Given the description of an element on the screen output the (x, y) to click on. 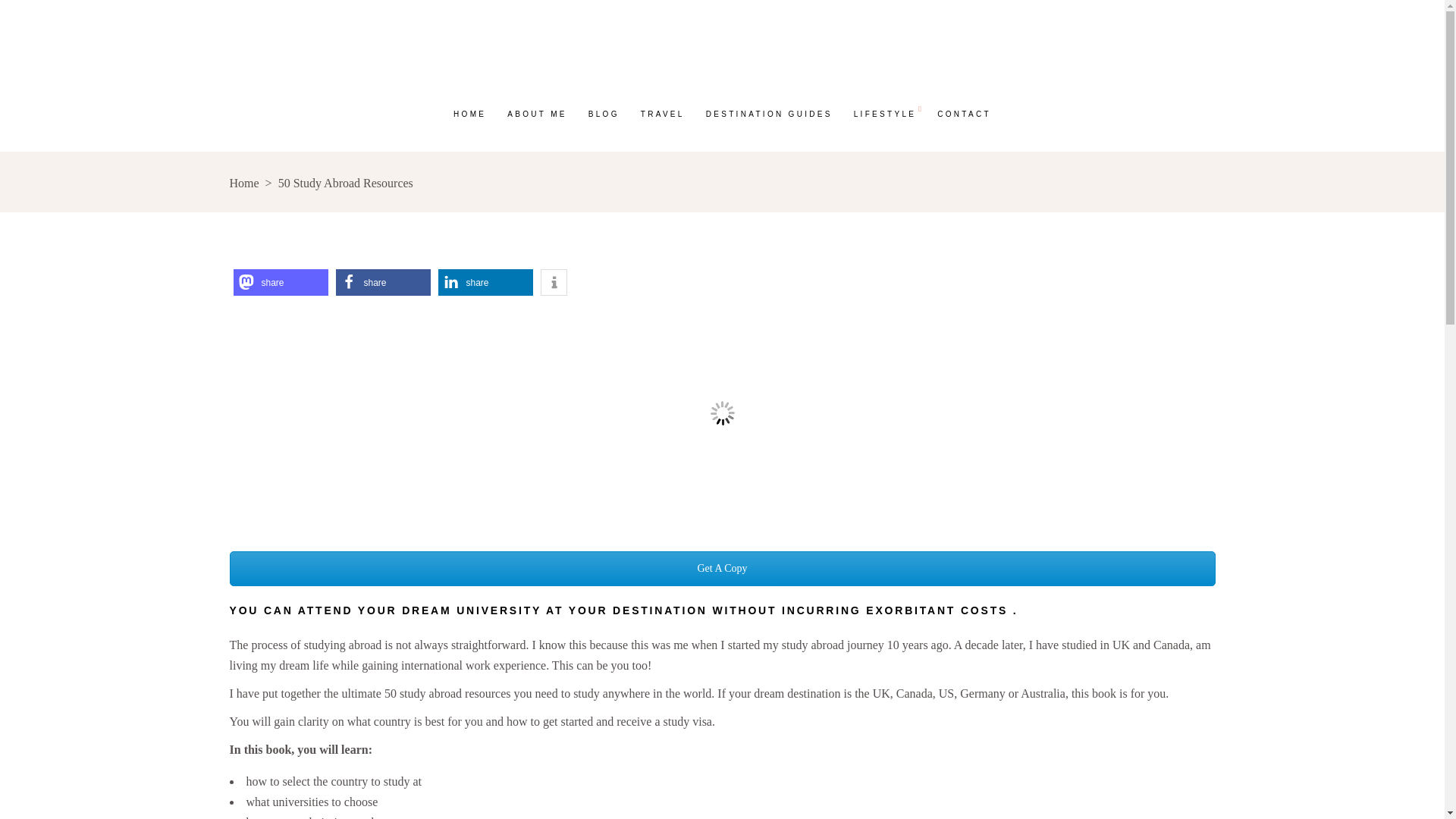
Get a copy now (721, 568)
HOME (469, 113)
Share on Mastodon (280, 282)
LIFESTYLE (885, 113)
share  (280, 282)
share  (381, 282)
More information (553, 282)
Share on LinkedIn (485, 282)
share  (485, 282)
Share on Facebook (381, 282)
ABOUT ME (536, 113)
TRAVEL (662, 113)
Get A Copy (721, 568)
CONTACT (963, 113)
BLOG (604, 113)
